Given the description of an element on the screen output the (x, y) to click on. 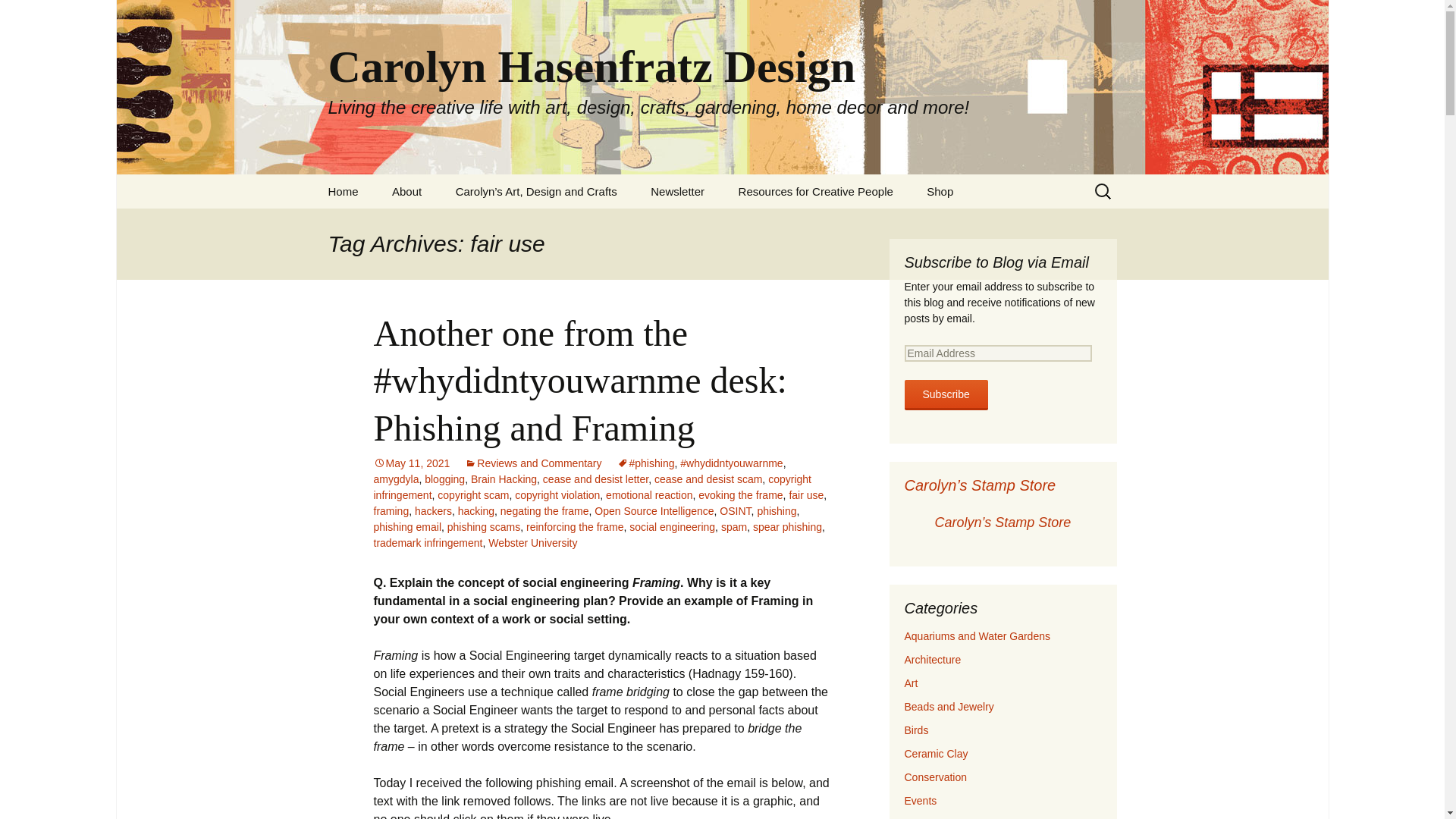
Search (18, 15)
Home (342, 191)
About (406, 191)
Crafts by Carolyn (516, 225)
May 11, 2021 (410, 463)
Contact Information (452, 225)
Reviews and Commentary (532, 463)
